Given the description of an element on the screen output the (x, y) to click on. 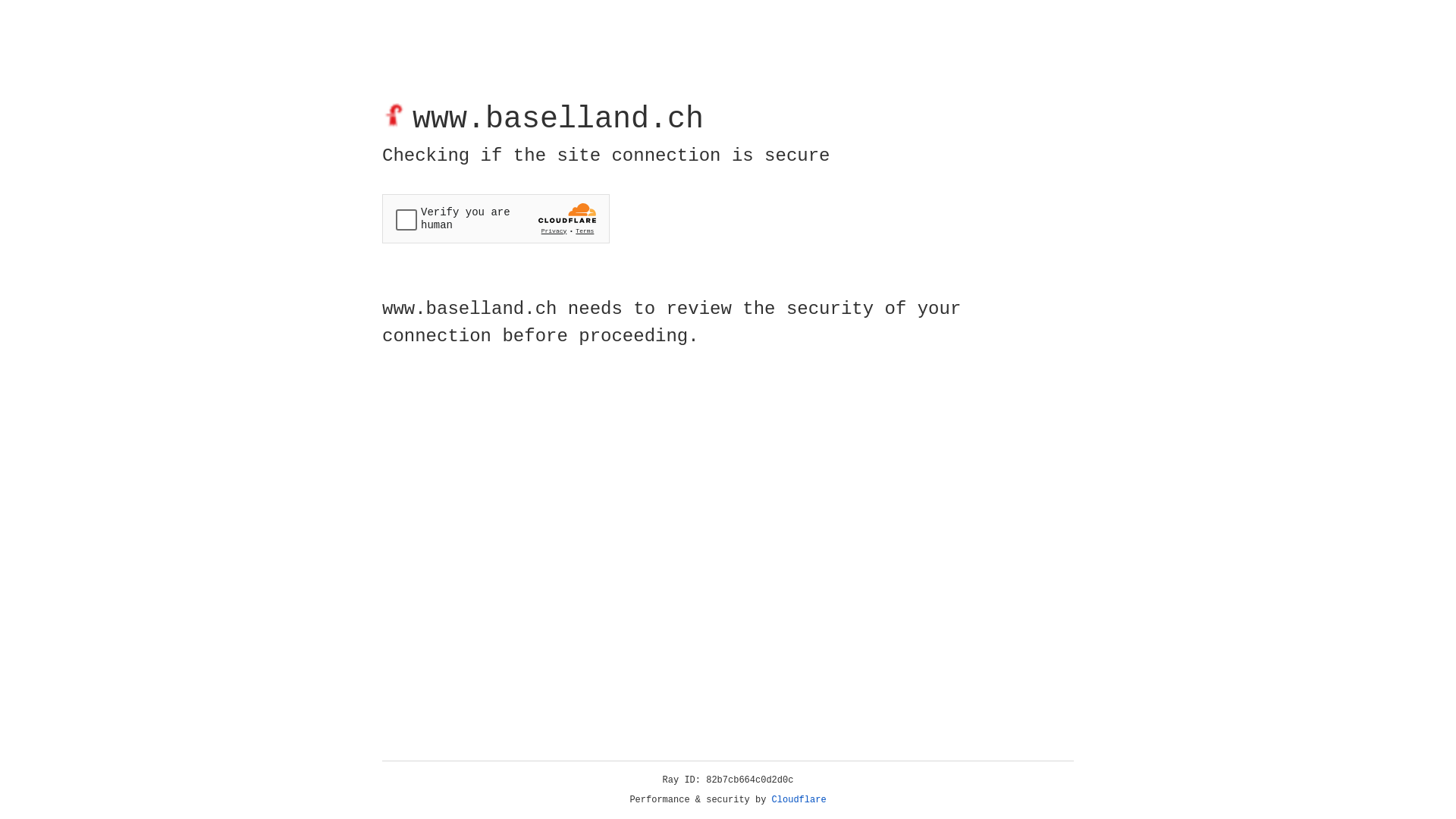
Cloudflare Element type: text (798, 799)
Widget containing a Cloudflare security challenge Element type: hover (495, 218)
